Given the description of an element on the screen output the (x, y) to click on. 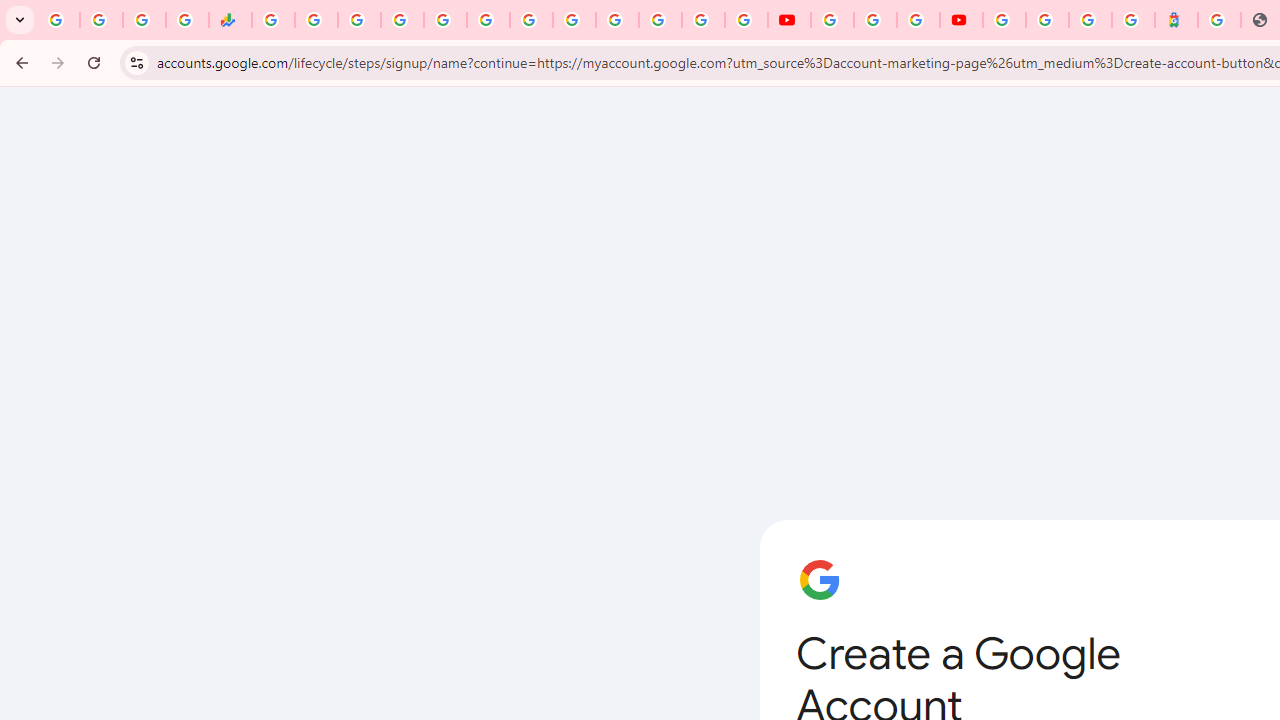
Sign in - Google Accounts (402, 20)
Android TV Policies and Guidelines - Transparency Center (530, 20)
Content Creator Programs & Opportunities - YouTube Creators (961, 20)
